Given the description of an element on the screen output the (x, y) to click on. 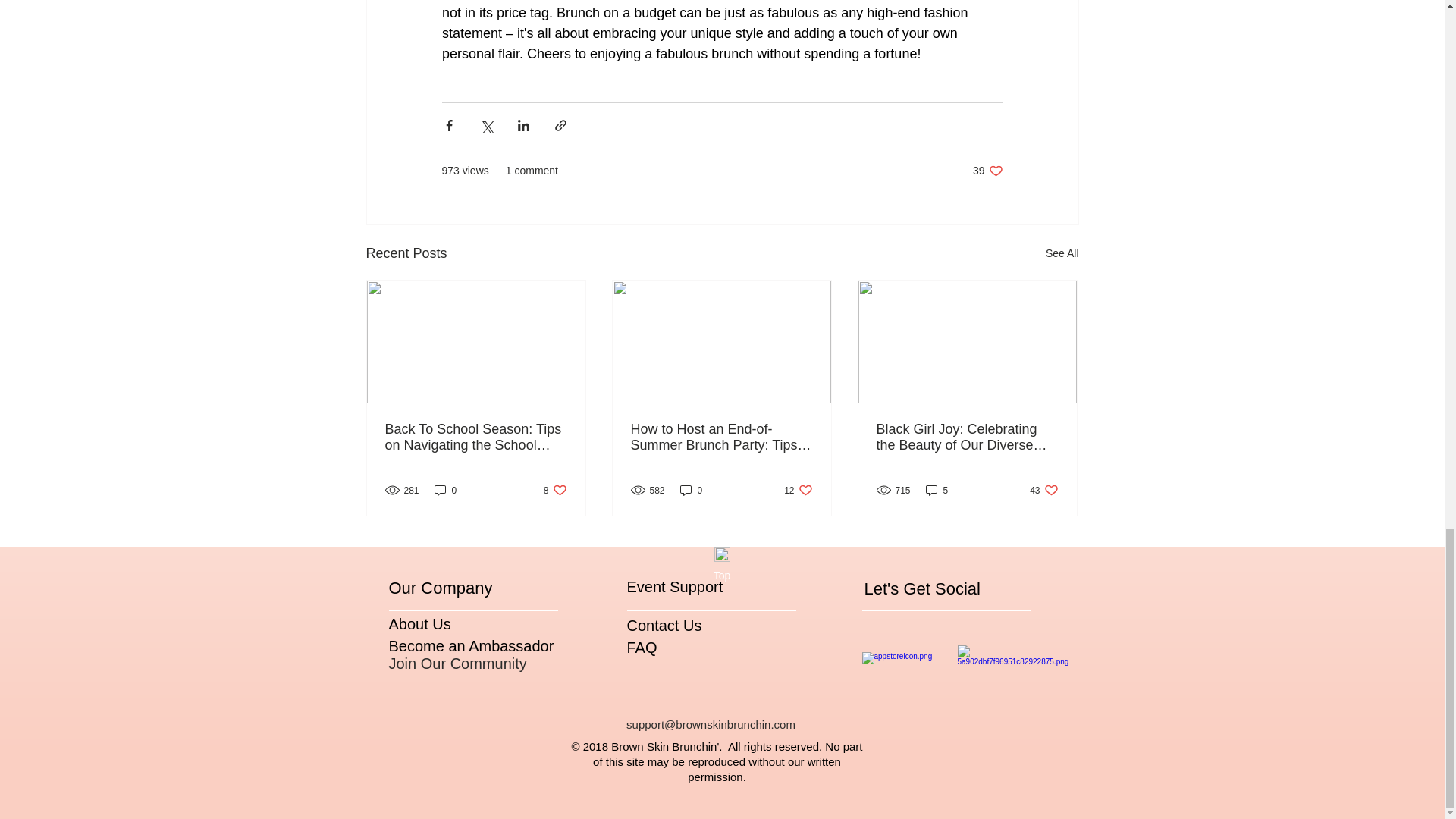
0 (798, 490)
0 (445, 490)
5 (1043, 490)
About Us (691, 490)
